Given the description of an element on the screen output the (x, y) to click on. 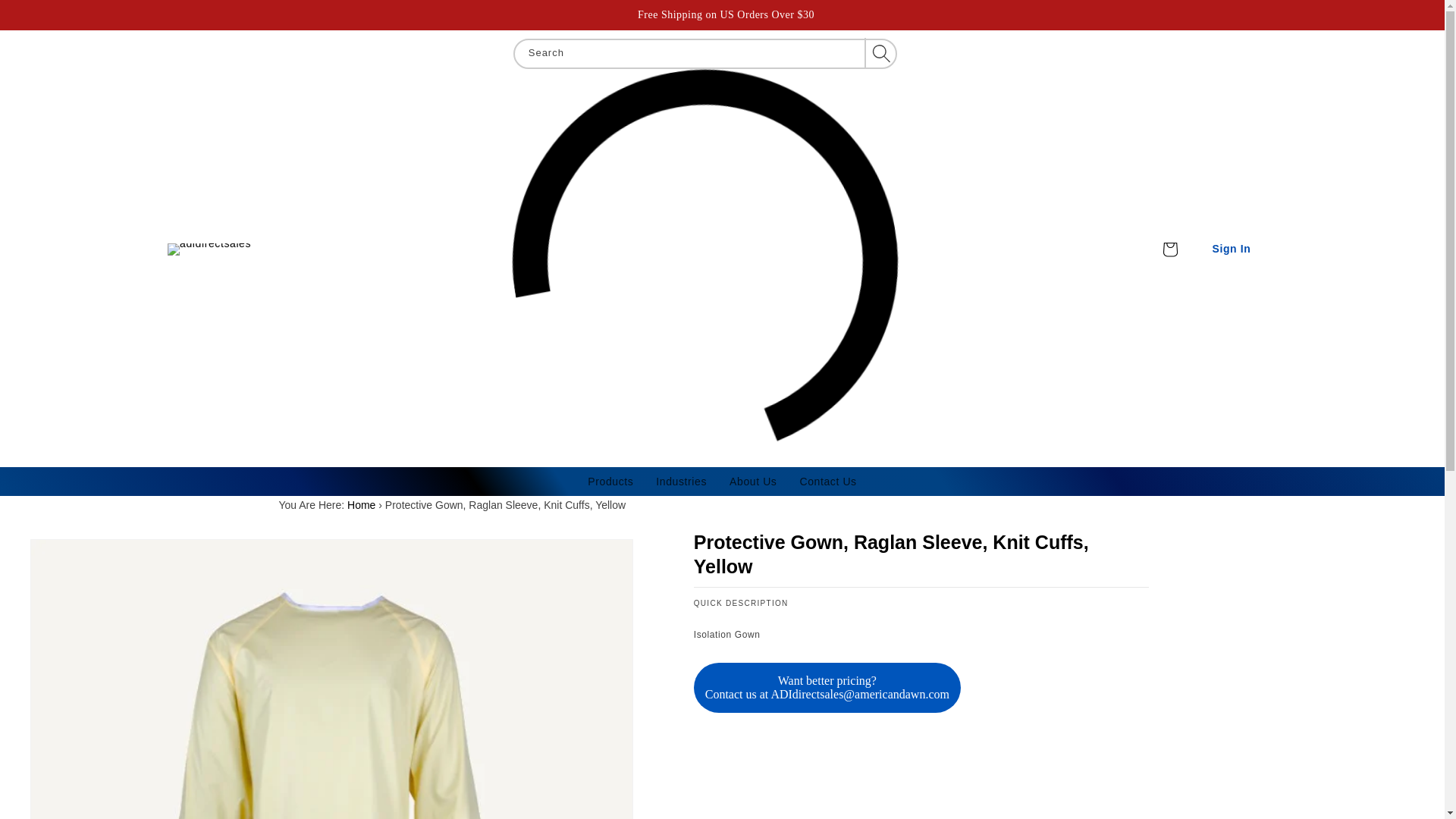
Skip to content (45, 17)
About Us (752, 481)
Contact Us (827, 481)
Skip to product information (45, 556)
Home (361, 504)
Home (361, 504)
Cart (1169, 249)
Industries (681, 481)
Products (610, 481)
Sign In (1231, 249)
